Given the description of an element on the screen output the (x, y) to click on. 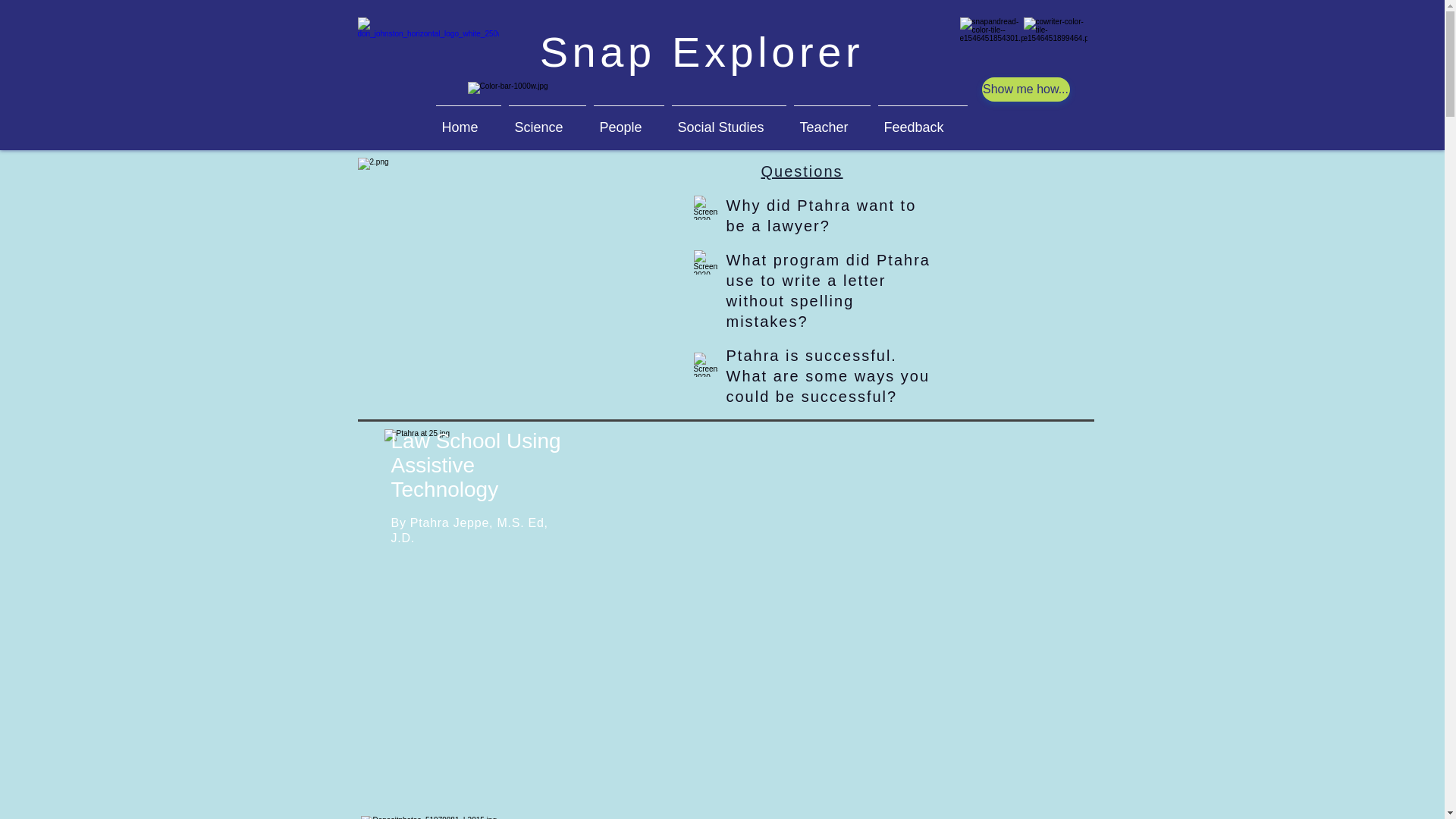
Teacher (832, 120)
Home (468, 120)
Show me how... (1024, 88)
Feedback (922, 120)
People (628, 120)
Social Studies (727, 120)
Science (547, 120)
